Given the description of an element on the screen output the (x, y) to click on. 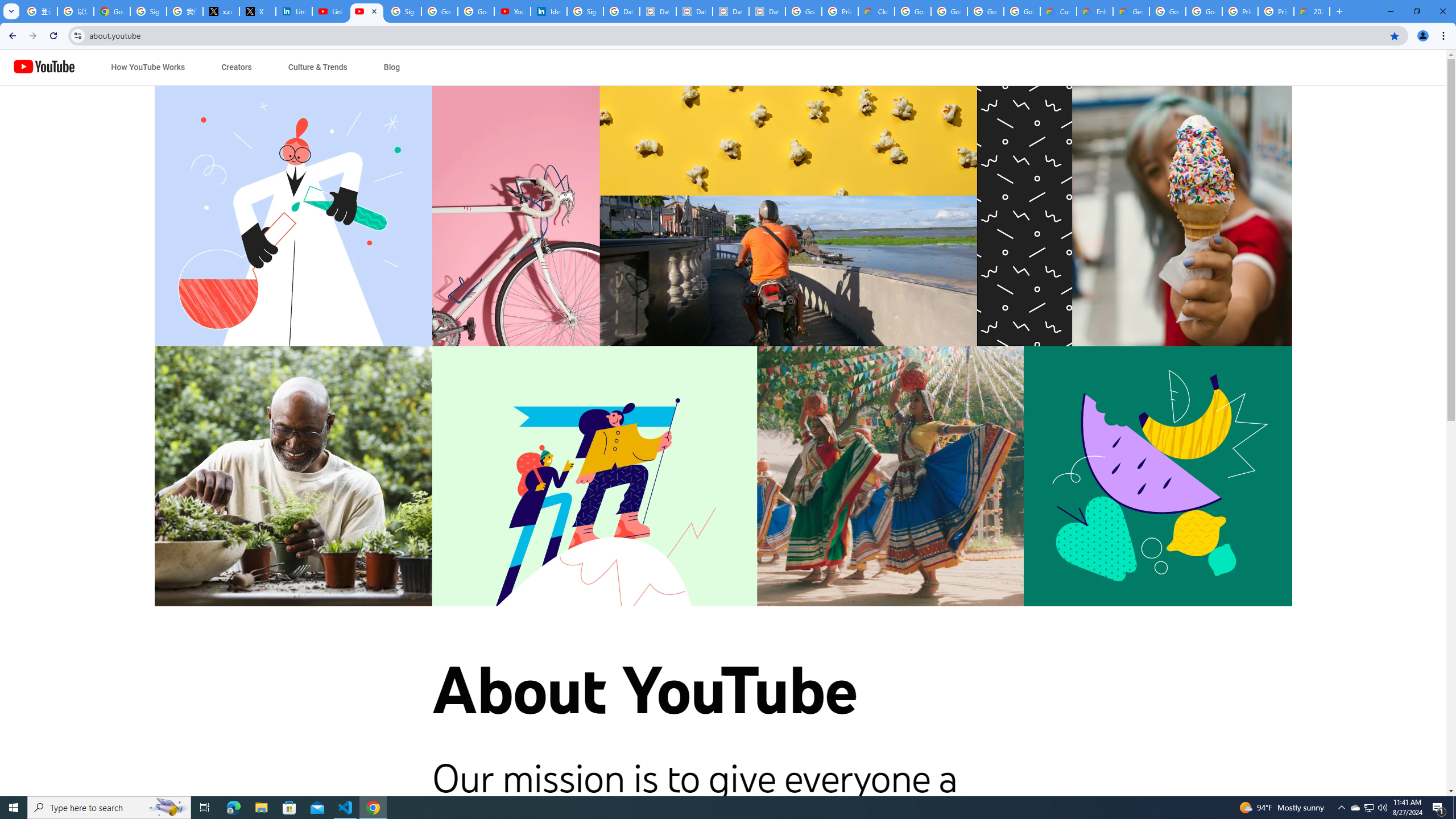
X (257, 11)
Jump to content (105, 67)
Google Cloud Platform (1203, 11)
Data Privacy Framework (730, 11)
Customer Care | Google Cloud (1058, 11)
LinkedIn - YouTube (330, 11)
Google Workspace - Specific Terms (985, 11)
Creators (236, 67)
